Given the description of an element on the screen output the (x, y) to click on. 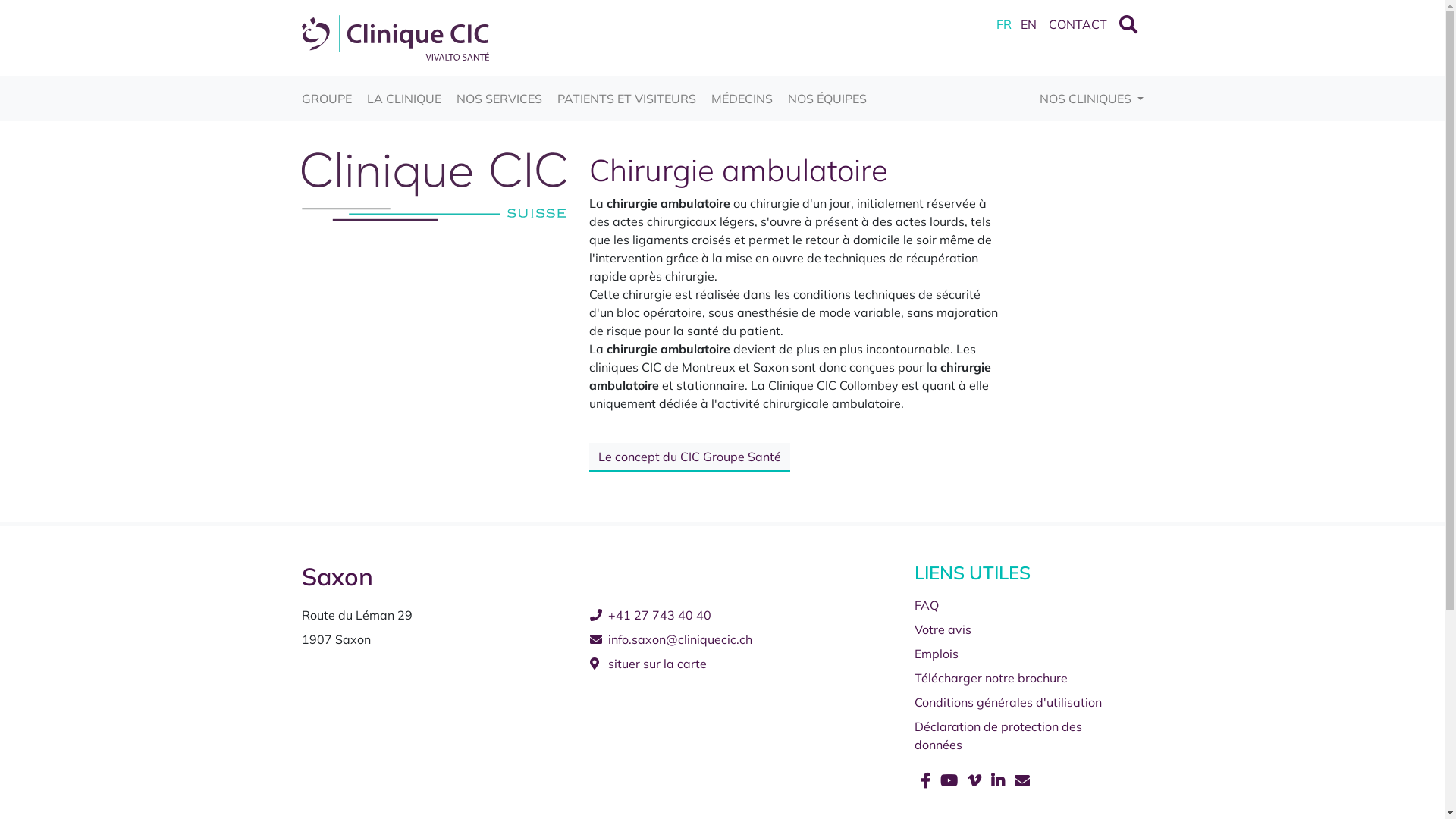
Cliniques CIC Element type: hover (395, 35)
Vimeo Element type: hover (976, 780)
YouTube Element type: hover (950, 780)
GROUPE
(CURRENT) Element type: text (326, 98)
Votre avis Element type: text (1010, 626)
LA CLINIQUE
(CURRENT) Element type: text (404, 98)
FR Element type: text (1003, 23)
PATIENTS ET VISITEURS
(CURRENT) Element type: text (625, 98)
info.saxon@cliniquecic.ch Element type: text (722, 636)
NOS CLINIQUES Element type: text (1091, 98)
EN Element type: text (1028, 23)
Contact Element type: hover (1021, 780)
LinkedIn Element type: hover (998, 780)
Emplois Element type: text (1010, 650)
+41 27 743 40 40 Element type: text (722, 611)
Facebook Element type: hover (927, 780)
NOS SERVICES
(CURRENT) Element type: text (499, 98)
FAQ Element type: text (1010, 601)
CONTACT Element type: text (1077, 23)
situer sur la carte Element type: text (722, 660)
